Given the description of an element on the screen output the (x, y) to click on. 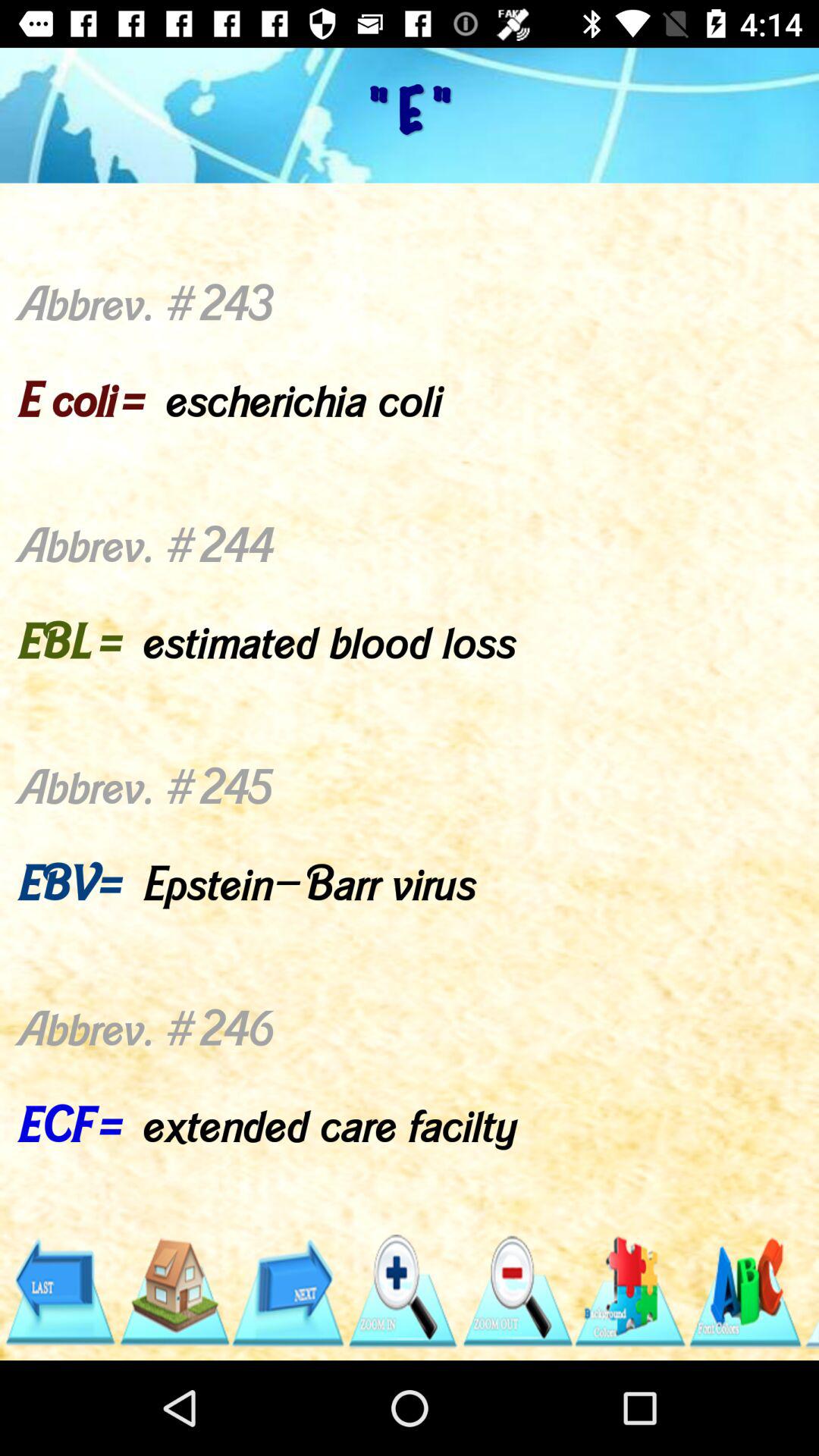
next page (287, 1291)
